Given the description of an element on the screen output the (x, y) to click on. 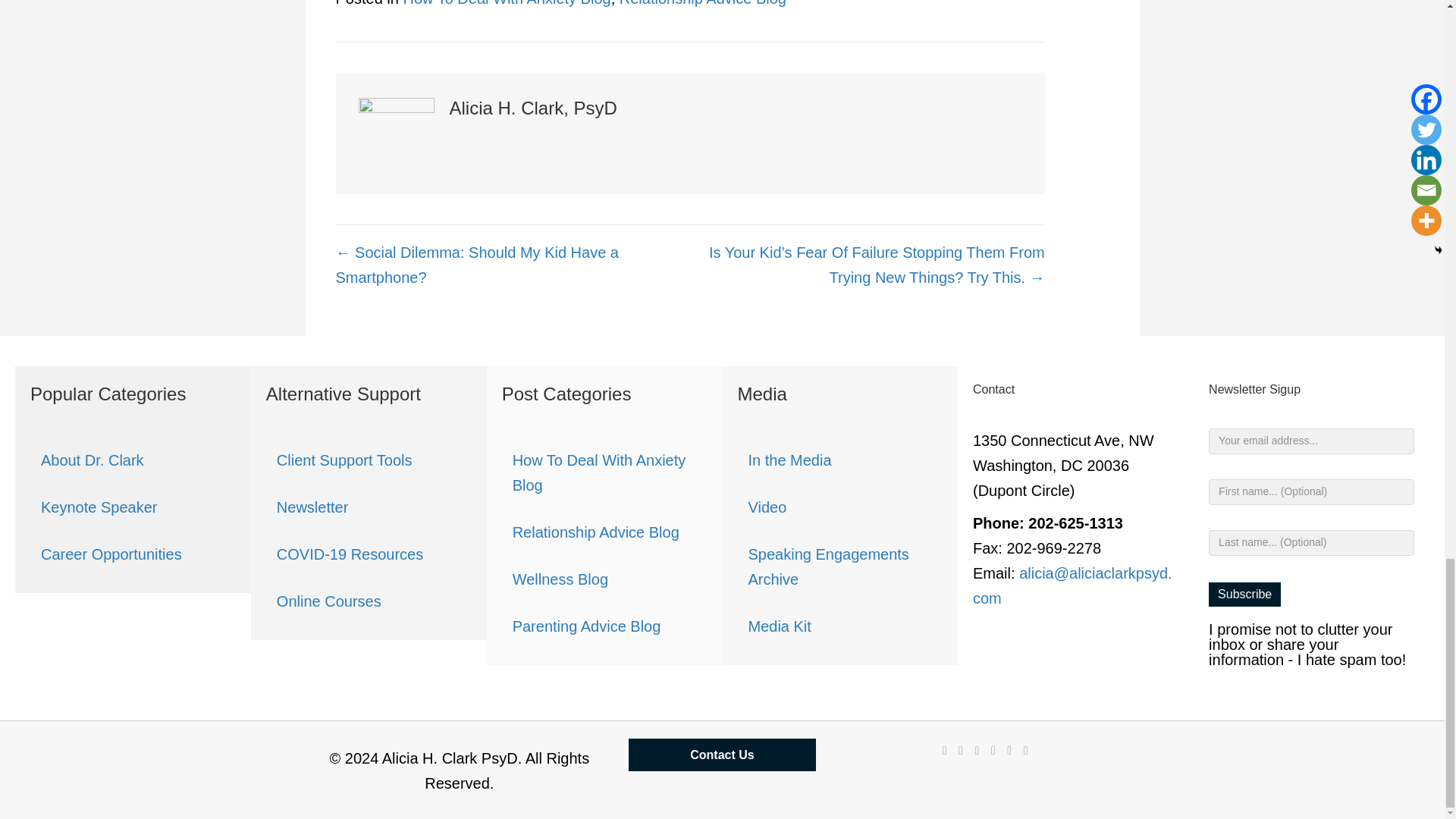
Subscribe (1244, 594)
